Given the description of an element on the screen output the (x, y) to click on. 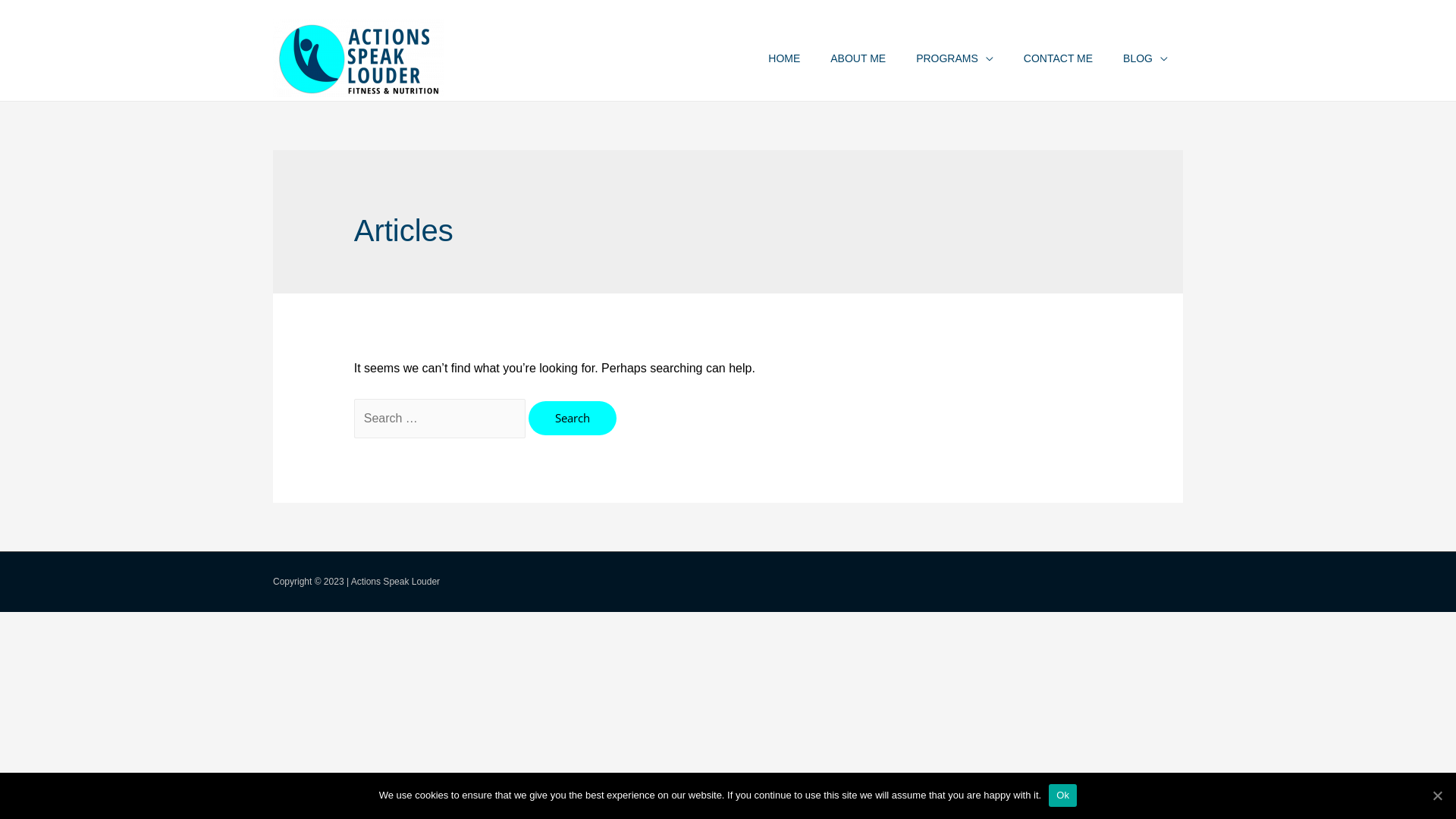
Search Element type: text (572, 418)
CONTACT ME Element type: text (1057, 57)
PROGRAMS Element type: text (954, 57)
Ok Element type: text (1062, 795)
ABOUT ME Element type: text (857, 57)
HOME Element type: text (784, 57)
BLOG Element type: text (1145, 57)
